Given the description of an element on the screen output the (x, y) to click on. 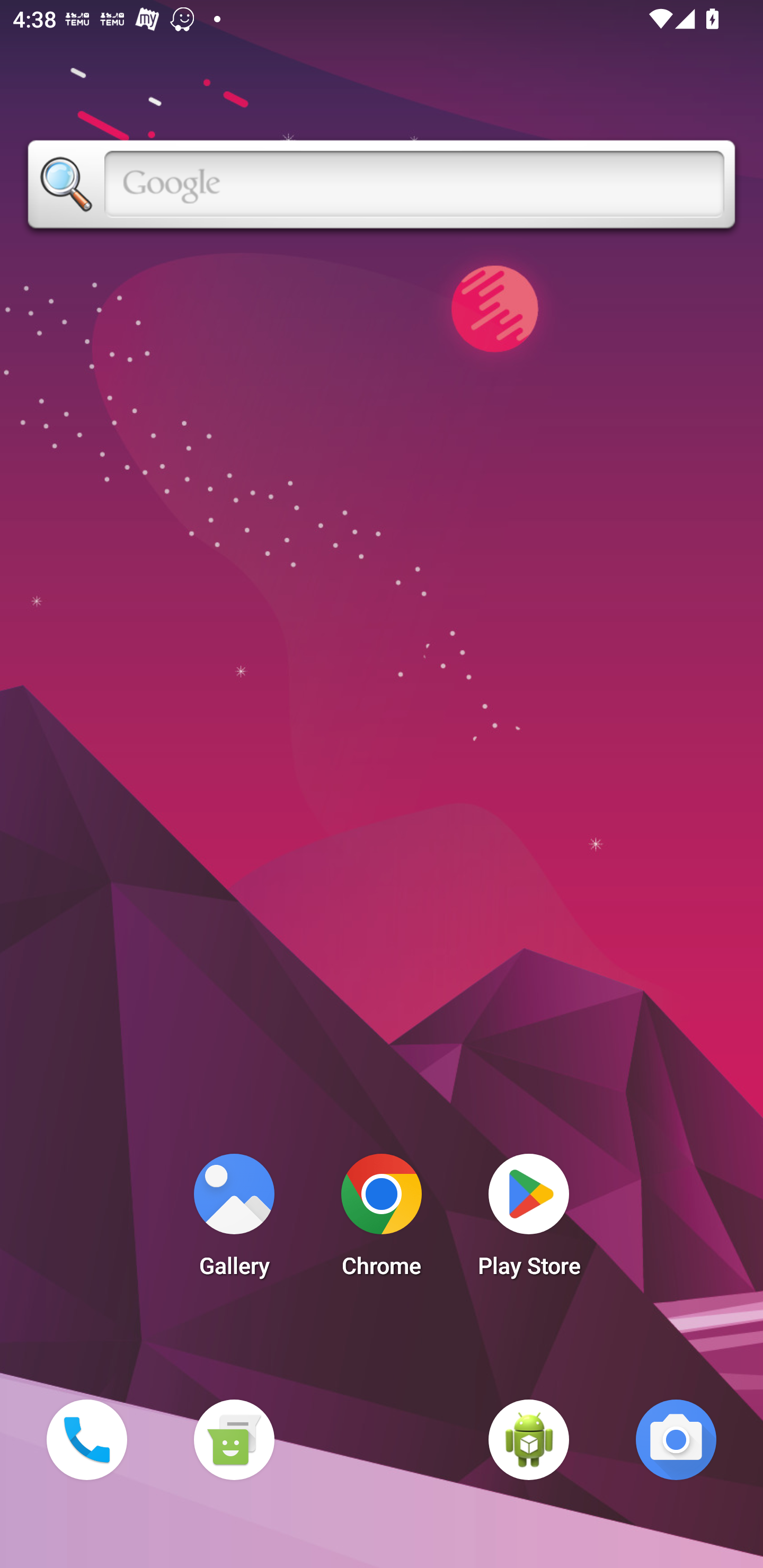
Gallery (233, 1220)
Chrome (381, 1220)
Play Store (528, 1220)
Phone (86, 1439)
Messaging (233, 1439)
WebView Browser Tester (528, 1439)
Camera (676, 1439)
